Given the description of an element on the screen output the (x, y) to click on. 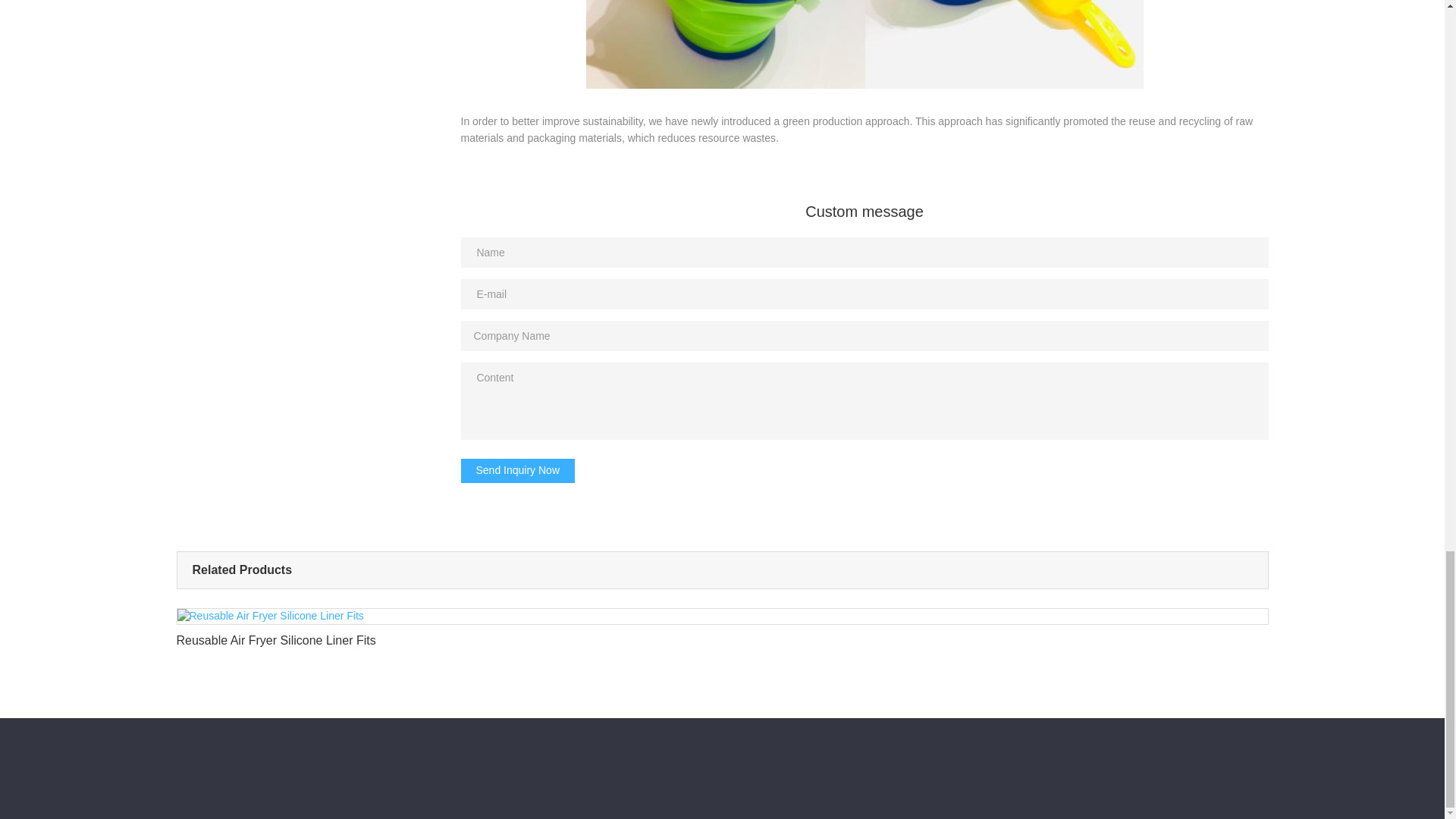
Reusable Air Fryer Silicone Liner Fits (722, 632)
Send Inquiry Now (518, 470)
